Given the description of an element on the screen output the (x, y) to click on. 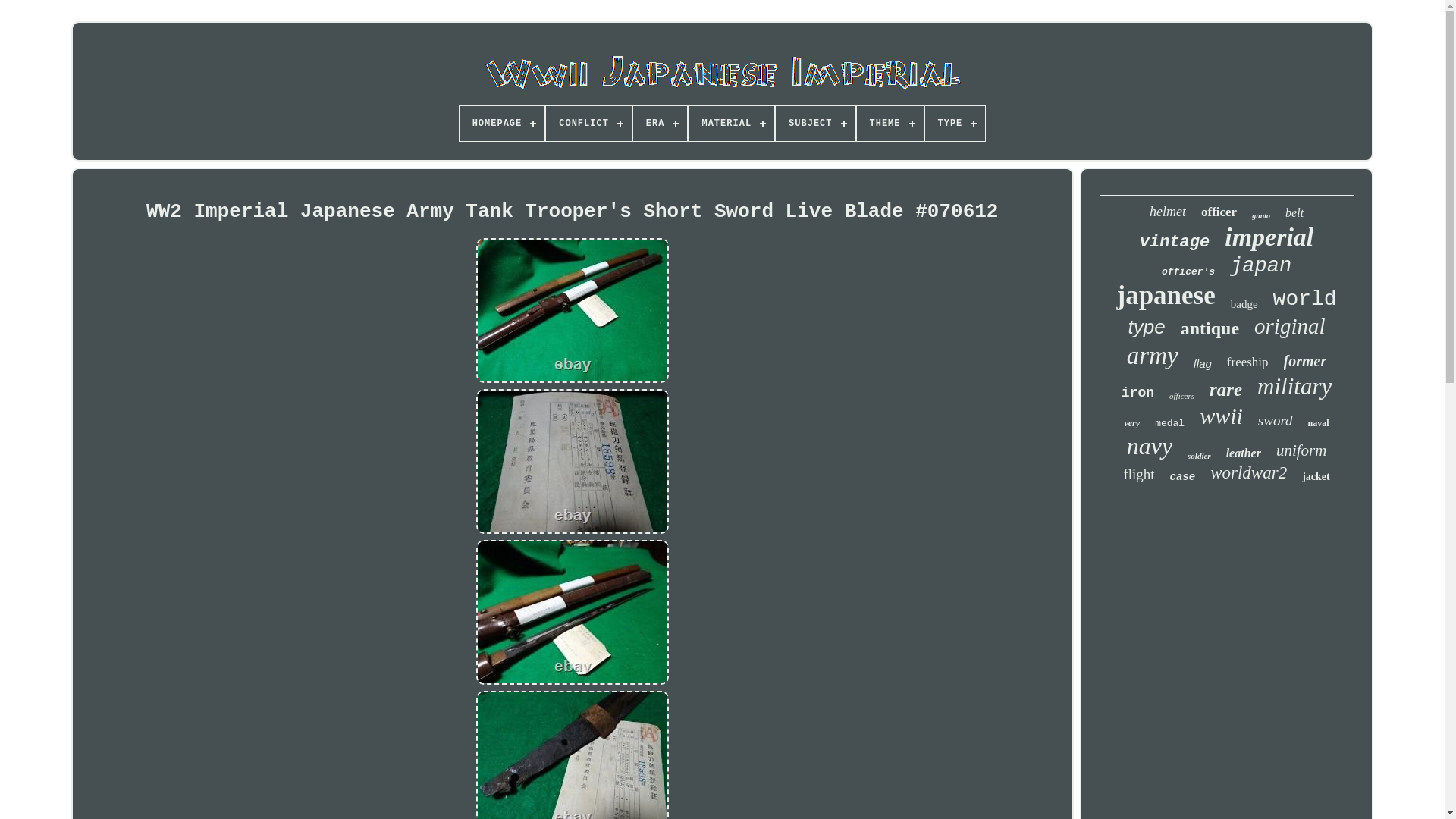
SUBJECT (815, 123)
CONFLICT (588, 123)
HOMEPAGE (502, 123)
ERA (660, 123)
MATERIAL (731, 123)
TYPE (954, 123)
THEME (890, 123)
